Given the description of an element on the screen output the (x, y) to click on. 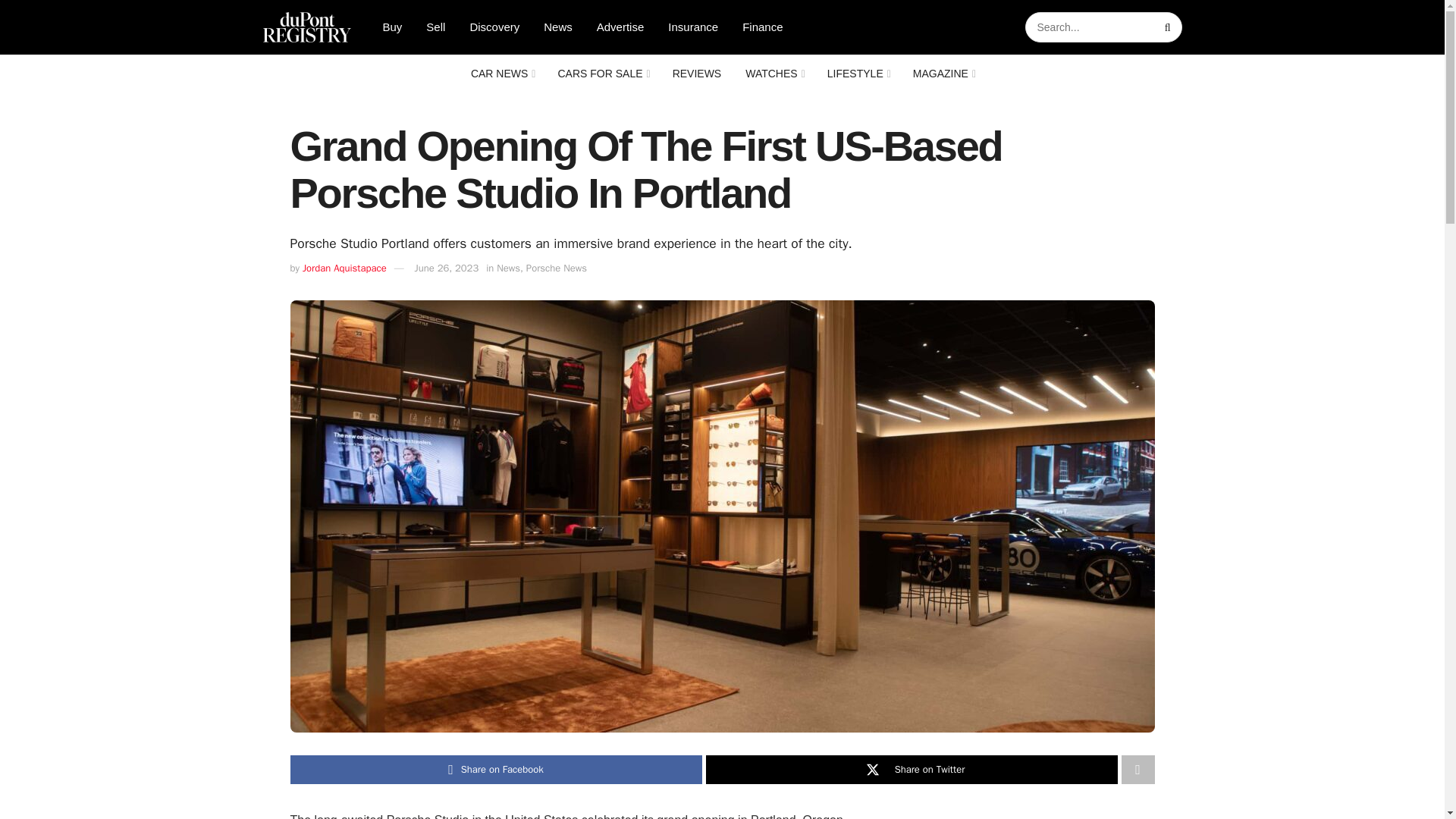
Advertise (620, 27)
CARS FOR SALE (601, 73)
News (558, 27)
Insurance (693, 27)
Finance (762, 27)
Discovery (494, 27)
CAR NEWS (502, 73)
